Given the description of an element on the screen output the (x, y) to click on. 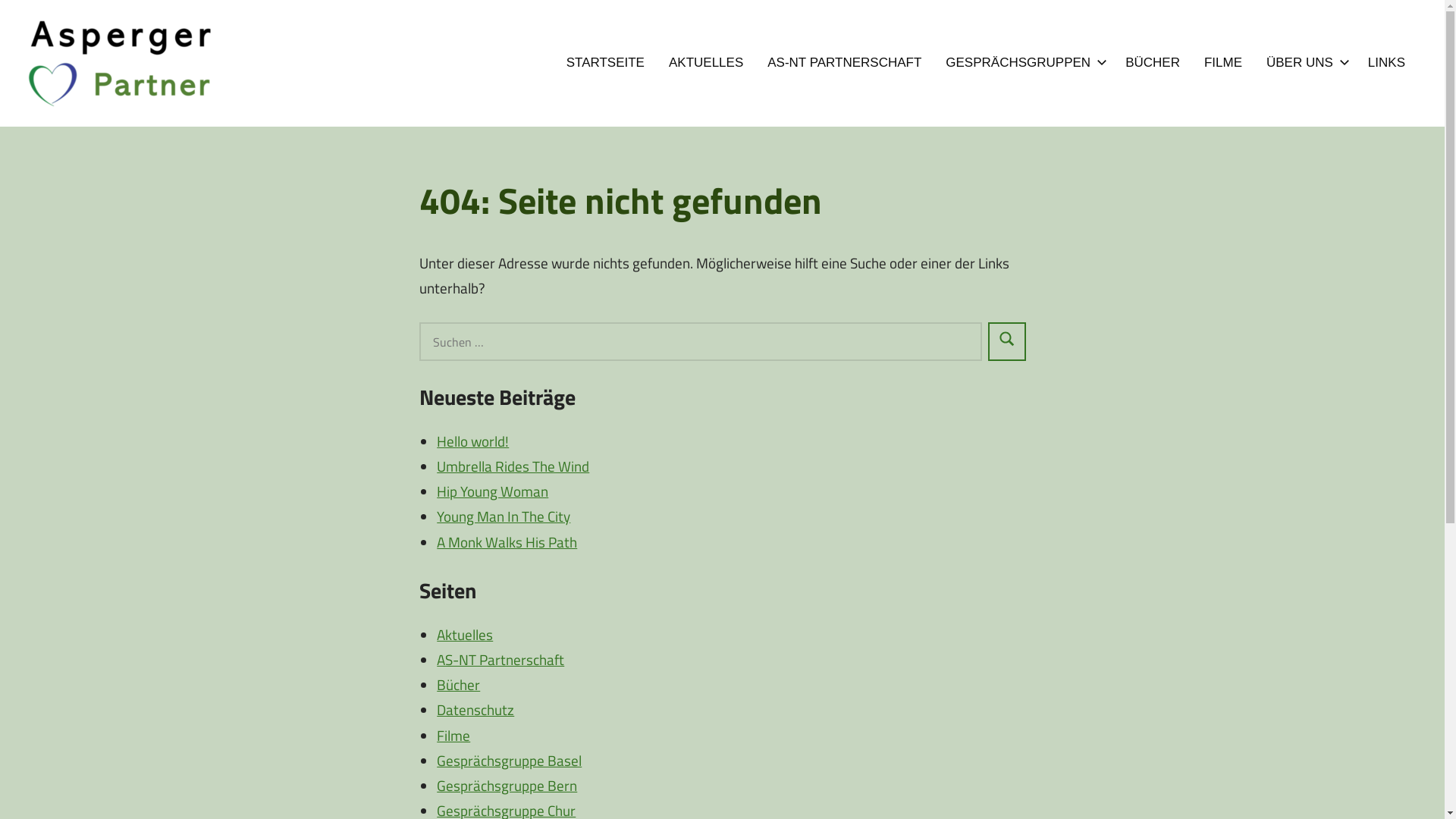
A Monk Walks His Path Element type: text (506, 541)
Young Man In The City Element type: text (503, 516)
Filme Element type: text (453, 734)
Aktuelles Element type: text (464, 634)
Datenschutz Element type: text (475, 709)
AS-NT PARTNERSCHAFT Element type: text (844, 62)
Suche nach: Element type: hover (699, 341)
Hello world! Element type: text (472, 440)
LINKS Element type: text (1386, 62)
FILME Element type: text (1223, 62)
AKTUELLES Element type: text (705, 62)
Umbrella Rides The Wind Element type: text (512, 465)
STARTSEITE Element type: text (605, 62)
AS-NT Partnerschaft Element type: text (500, 659)
Hip Young Woman Element type: text (492, 491)
